Given the description of an element on the screen output the (x, y) to click on. 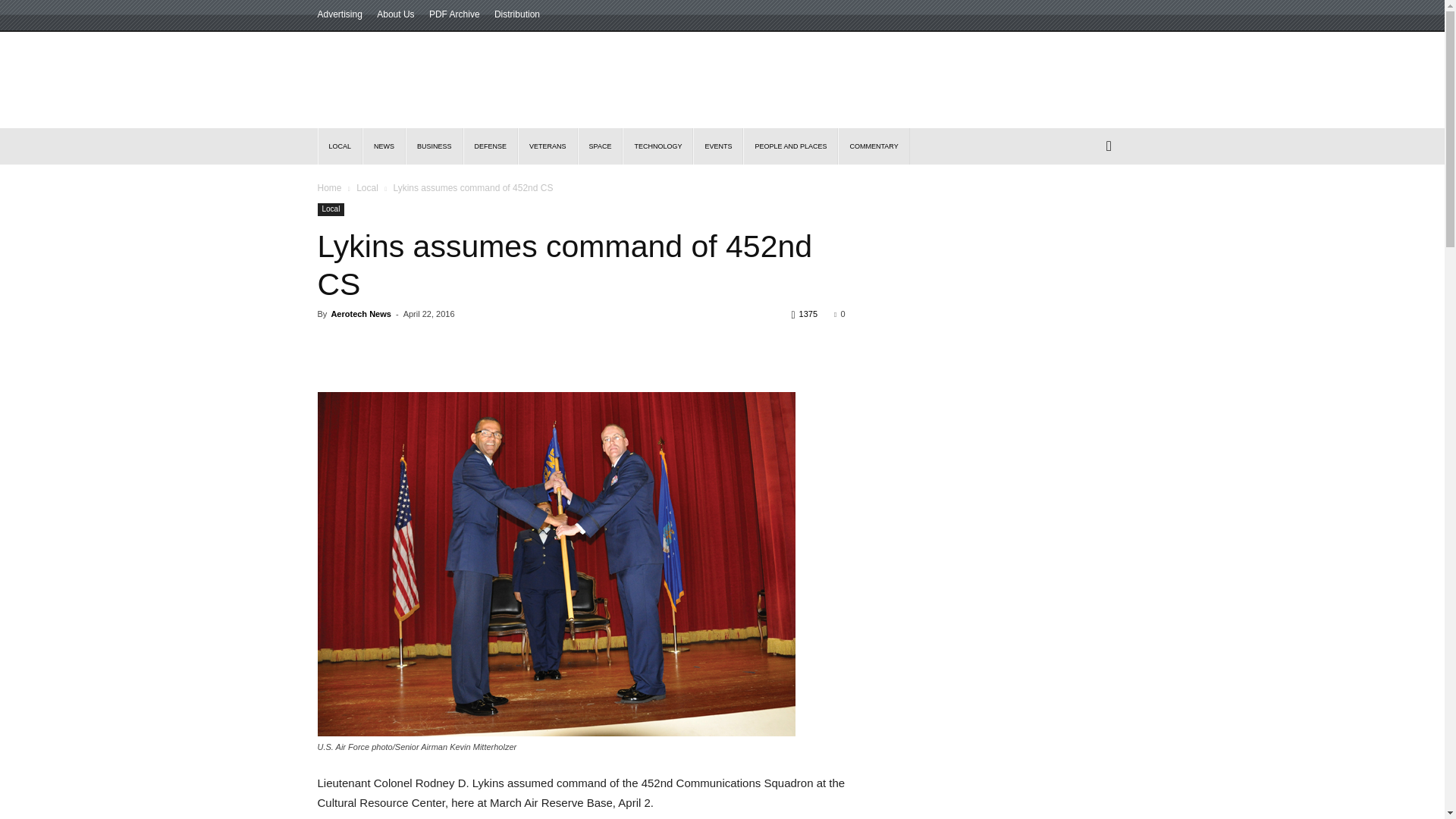
About Us (395, 14)
Local (367, 187)
NEWS (384, 145)
SPACE (600, 145)
Distribution (517, 14)
DEFENSE (490, 145)
BUSINESS (434, 145)
EVENTS (717, 145)
PEOPLE AND PLACES (790, 145)
